Given the description of an element on the screen output the (x, y) to click on. 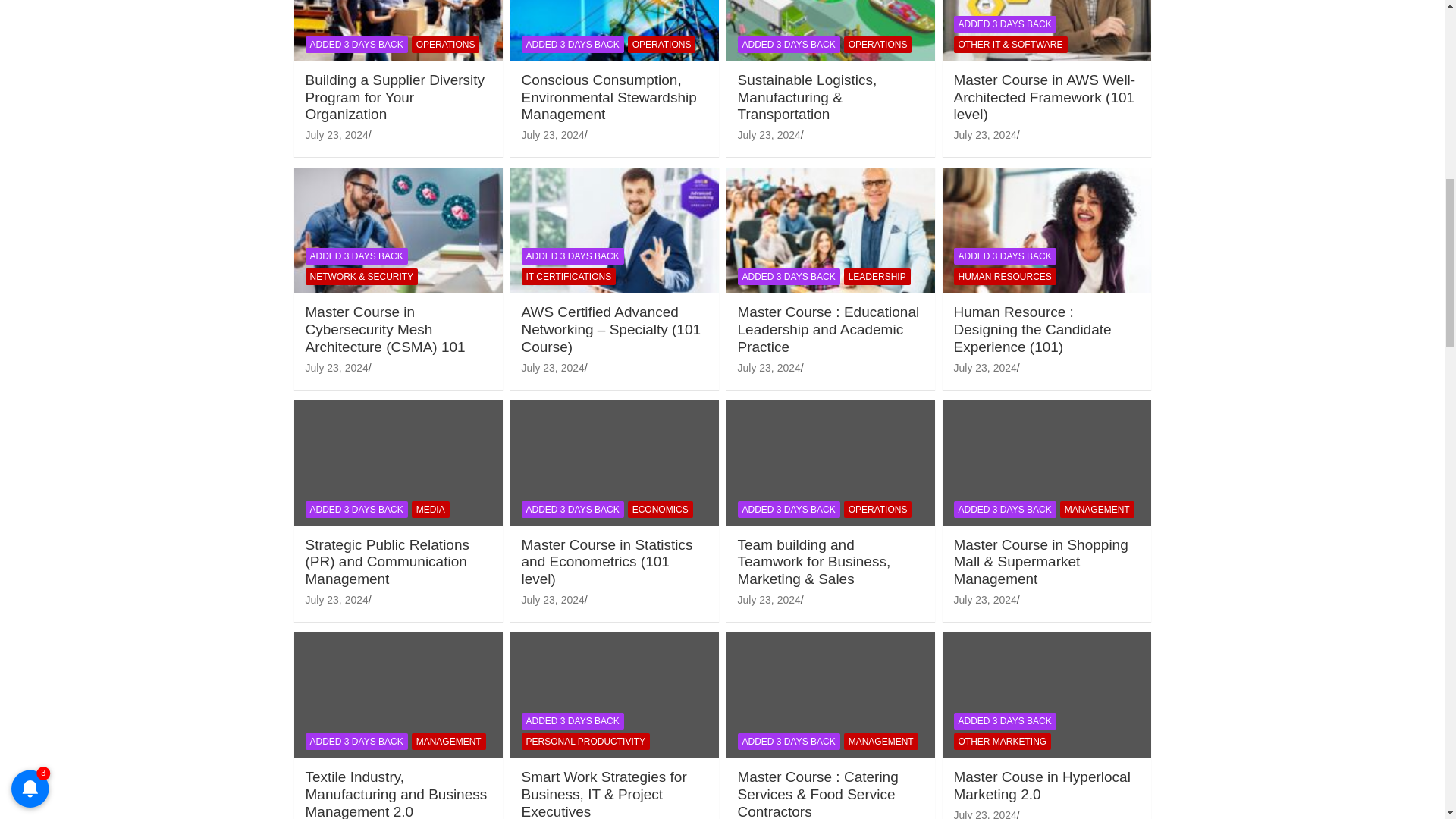
Building a Supplier Diversity Program for Your Organization (336, 134)
Master Course : Educational Leadership and Academic Practice (767, 367)
Conscious Consumption, Environmental Stewardship Management (553, 134)
